Given the description of an element on the screen output the (x, y) to click on. 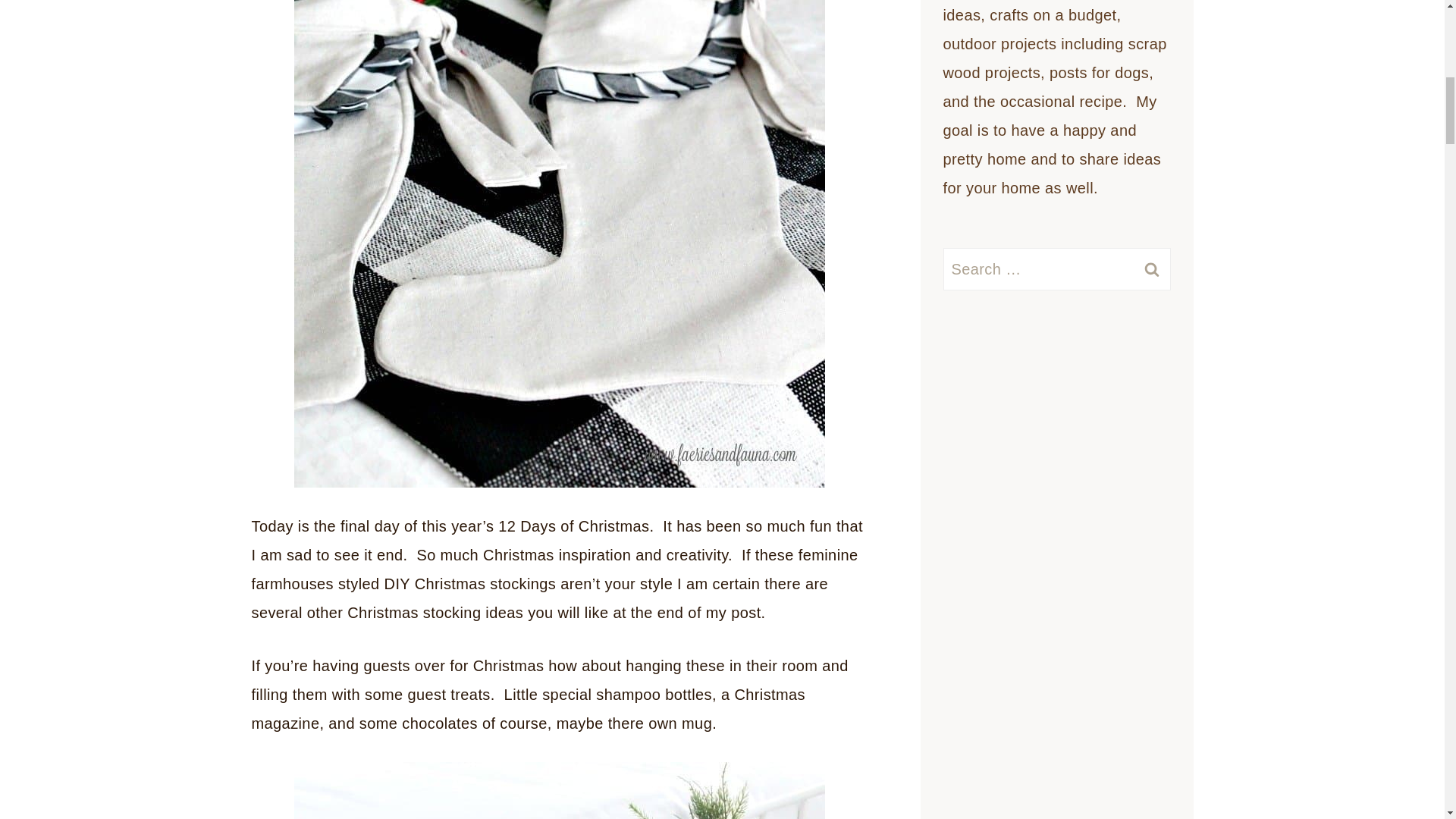
Search (1151, 269)
Search (1151, 269)
